Given the description of an element on the screen output the (x, y) to click on. 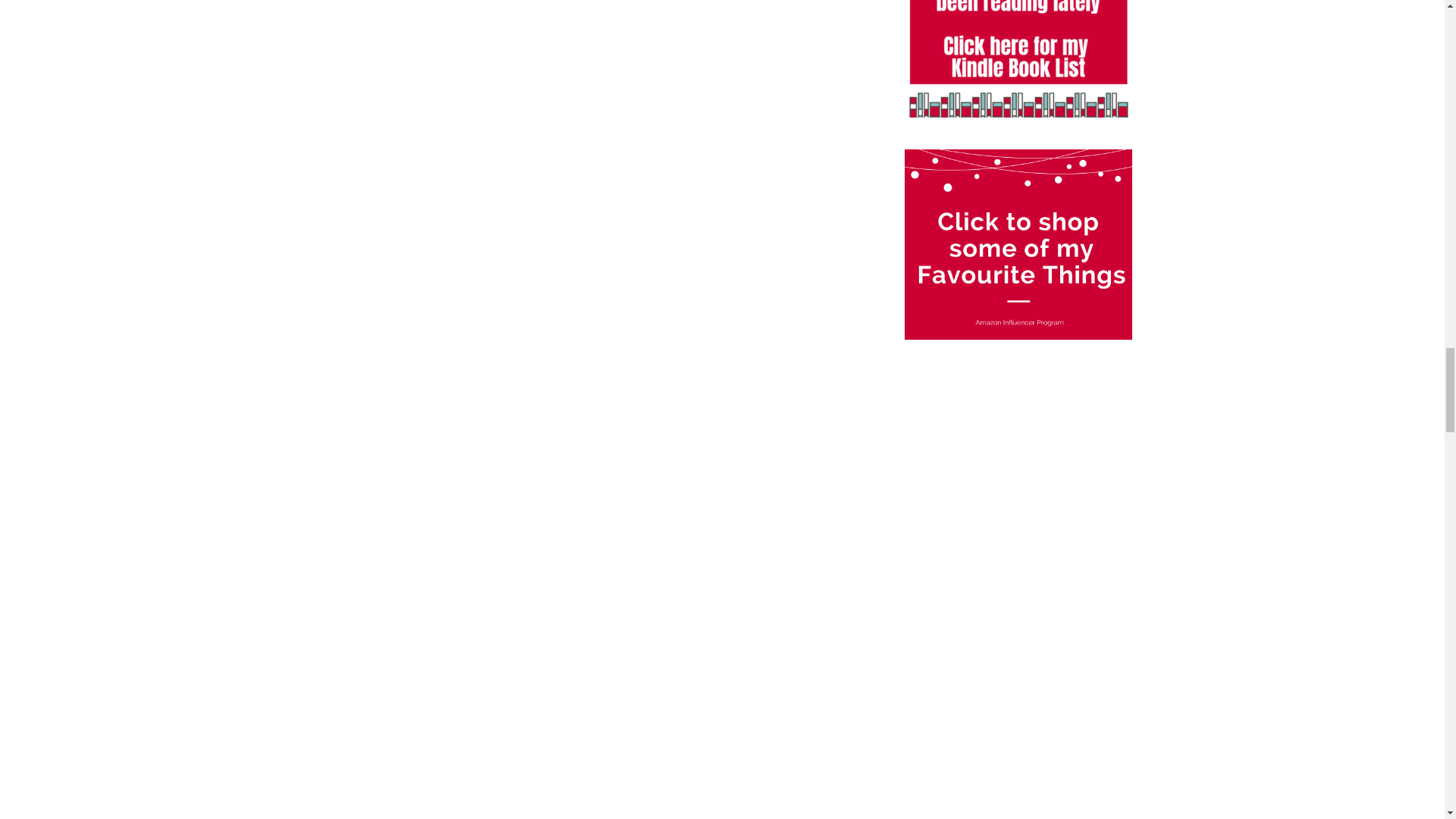
Kindle Book List (1017, 58)
